Given the description of an element on the screen output the (x, y) to click on. 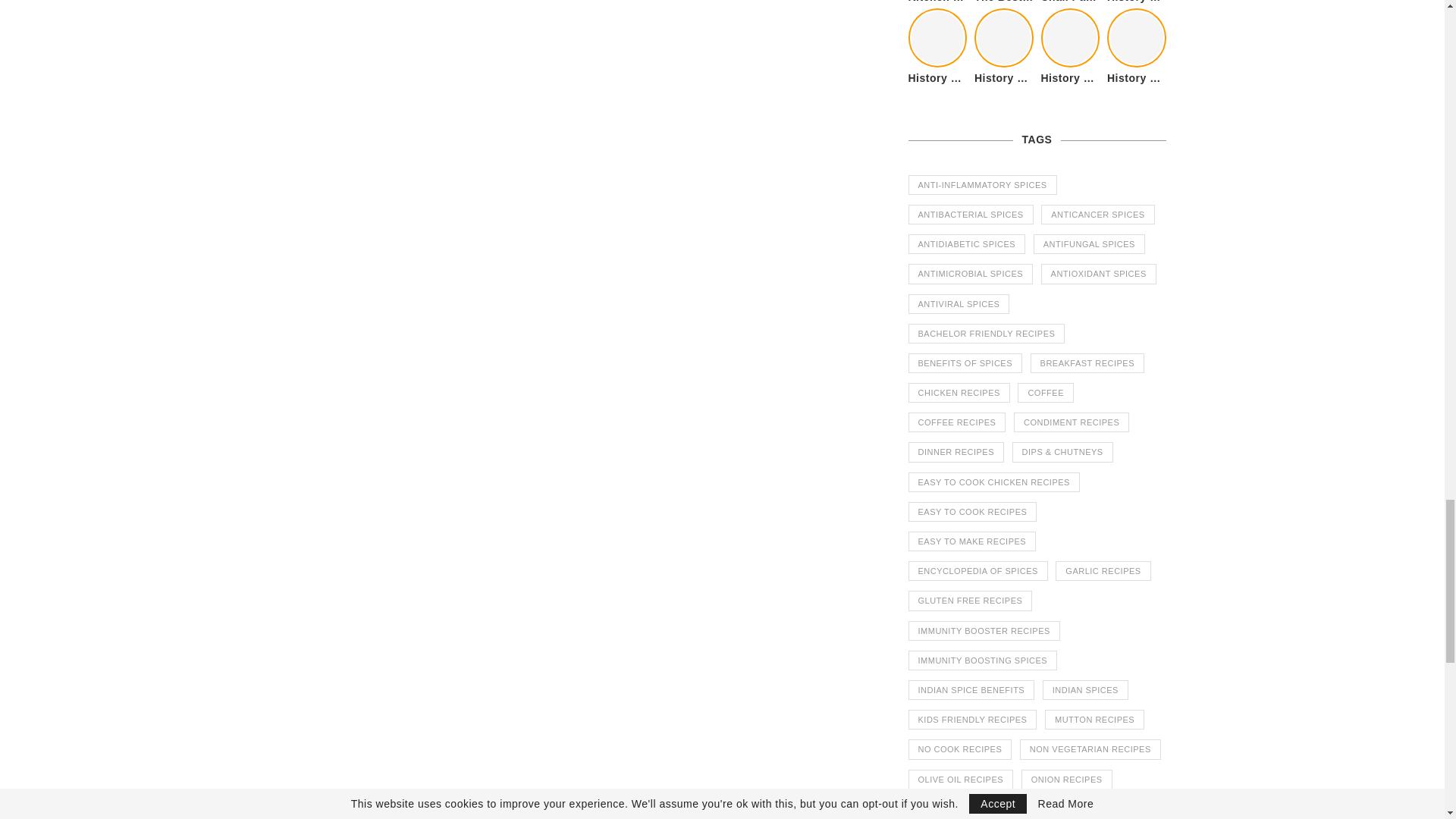
The Best Kitchen Essentials List for Anyone Who Cooks (1003, 2)
